Given the description of an element on the screen output the (x, y) to click on. 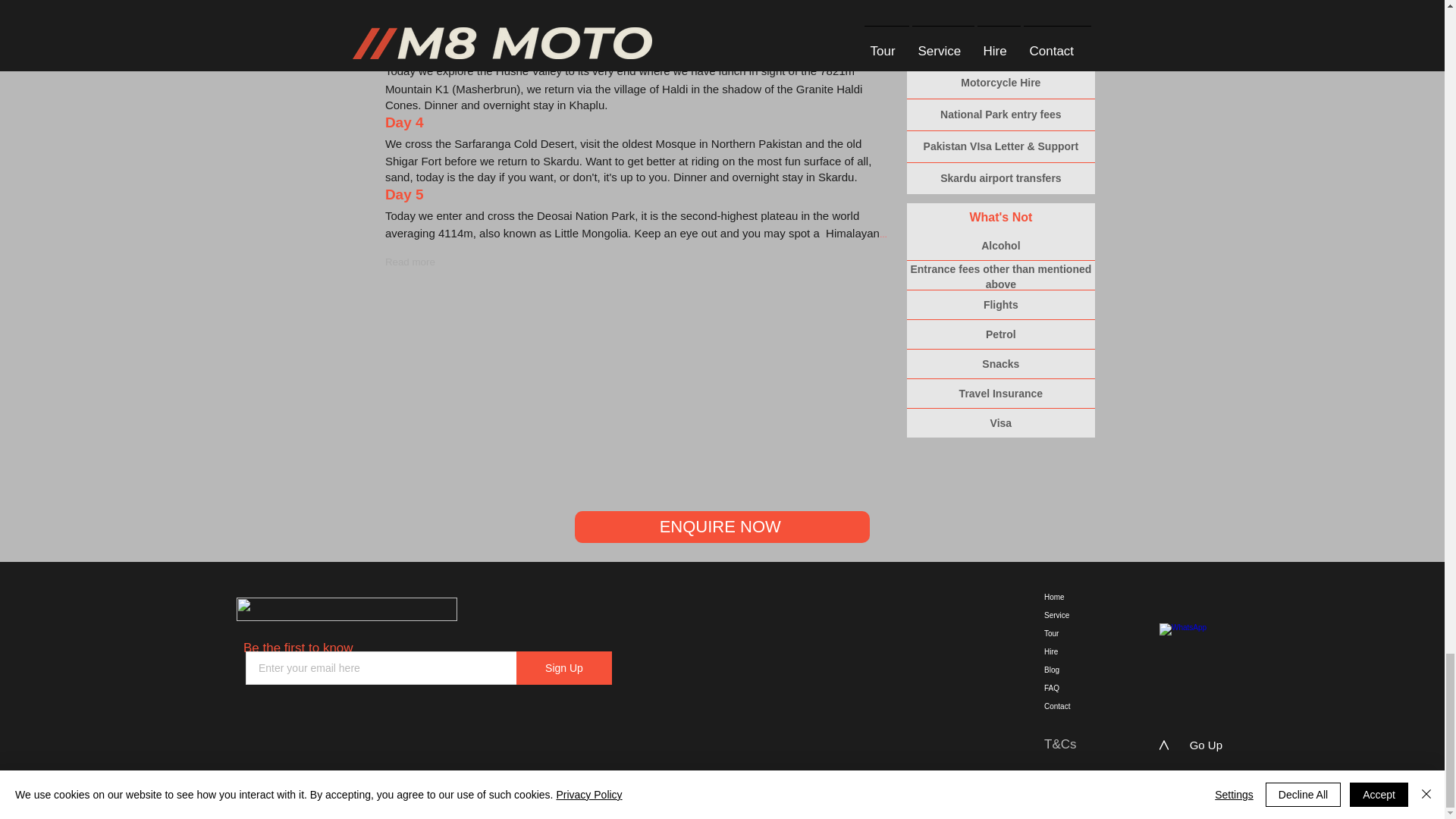
Contact (1068, 706)
Tour (1068, 633)
Hire (1068, 651)
Home (1068, 597)
Sign Up (563, 667)
ENQUIRE NOW (722, 526)
WhatsApp Button 1.jpeg (1218, 643)
M8 Logo Name Only.png (346, 608)
Blog (1068, 669)
Go Up (1206, 744)
Read more (410, 261)
FAQ (1068, 688)
Service (1068, 615)
